Given the description of an element on the screen output the (x, y) to click on. 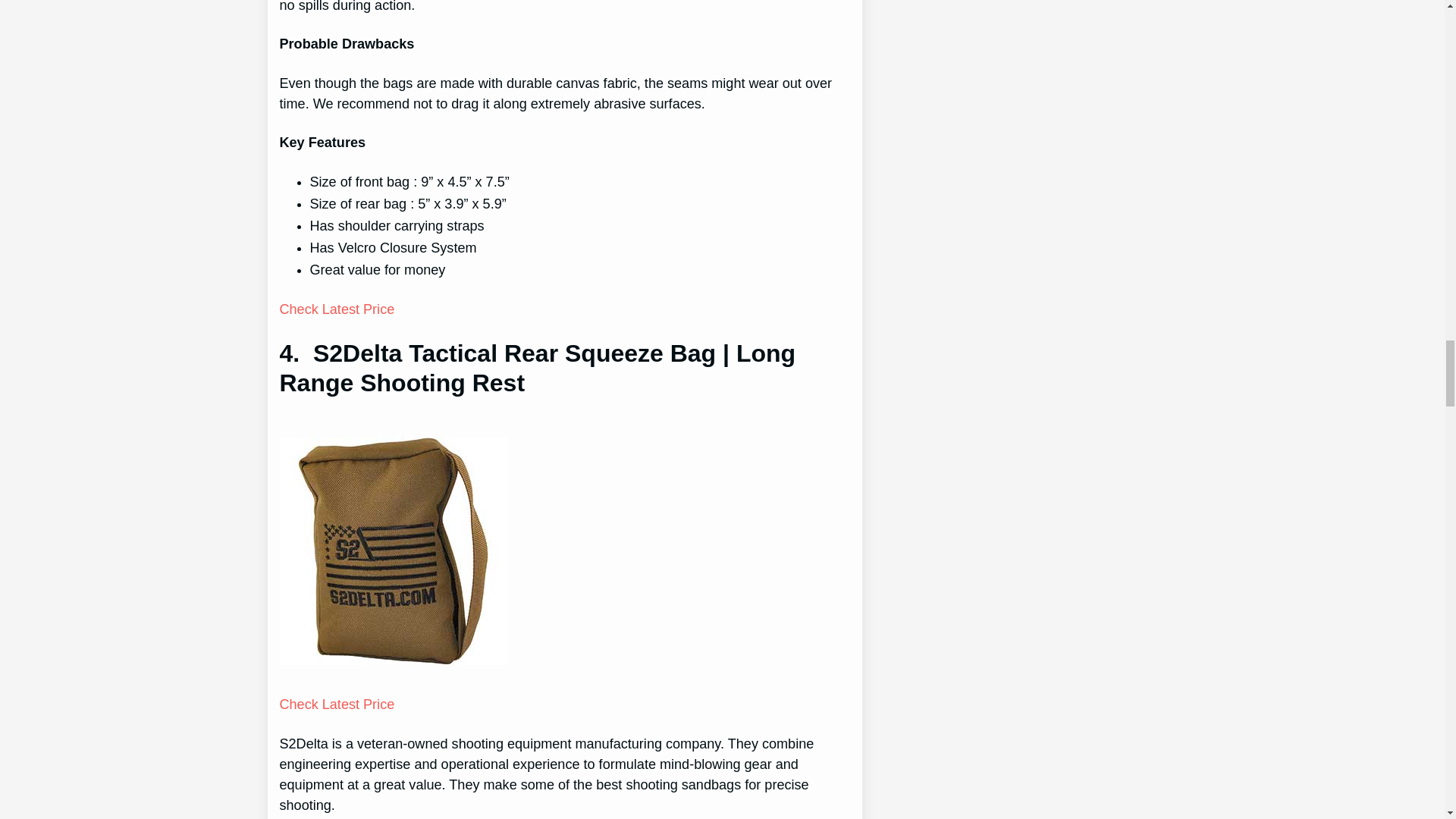
Check Latest Price (336, 703)
Check Latest Price (336, 309)
